Given the description of an element on the screen output the (x, y) to click on. 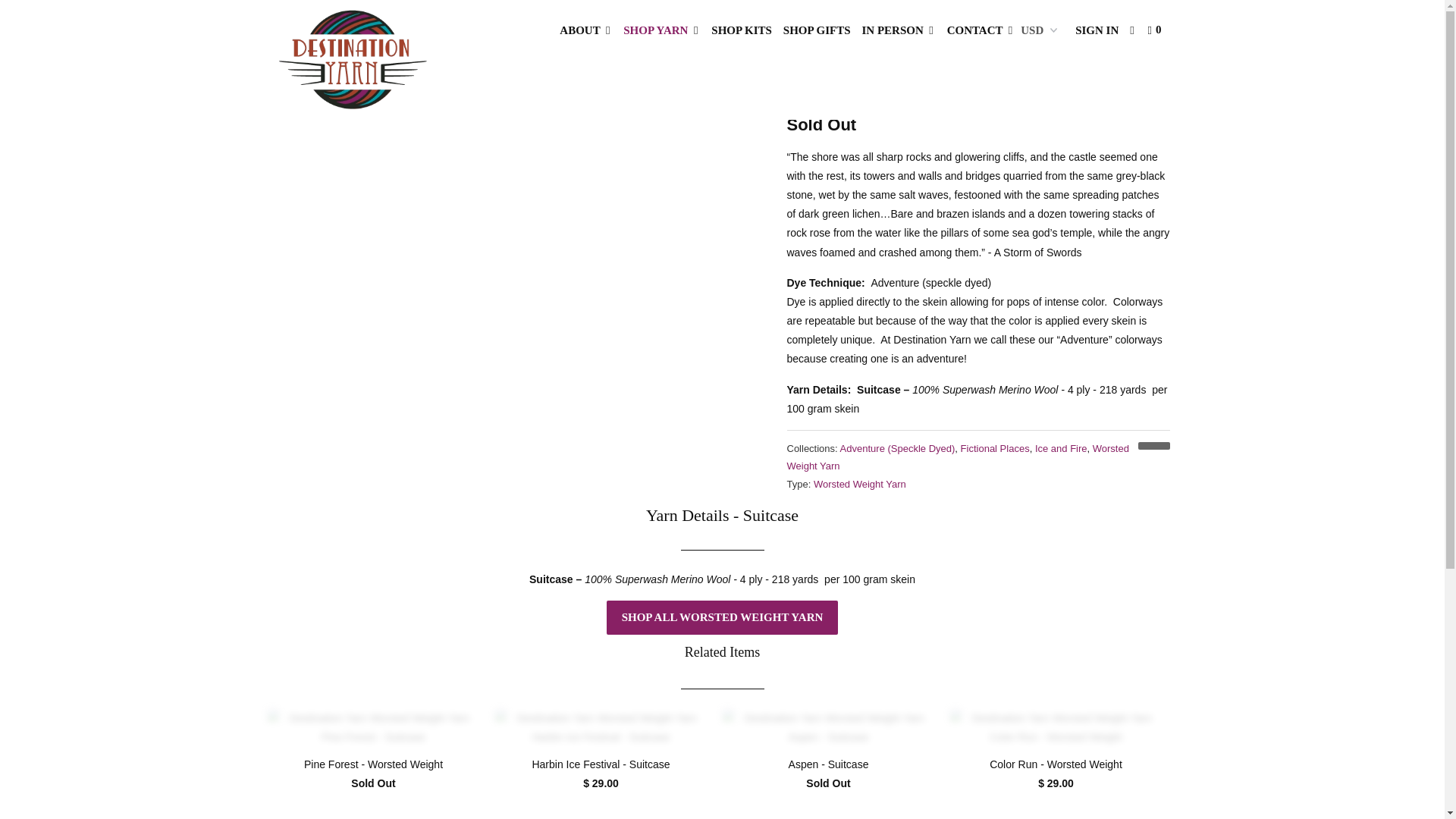
Fictional Places (994, 448)
Worsted Weight Yarn (859, 483)
My Account  (1096, 30)
Search (1132, 30)
Next (1154, 34)
Ice and Fire (1061, 448)
Destination Yarn (288, 30)
Destination Yarn (352, 60)
Previous (1131, 34)
Worsted Weight Yarn (958, 457)
Worsted Weight Yarn (359, 30)
